Given the description of an element on the screen output the (x, y) to click on. 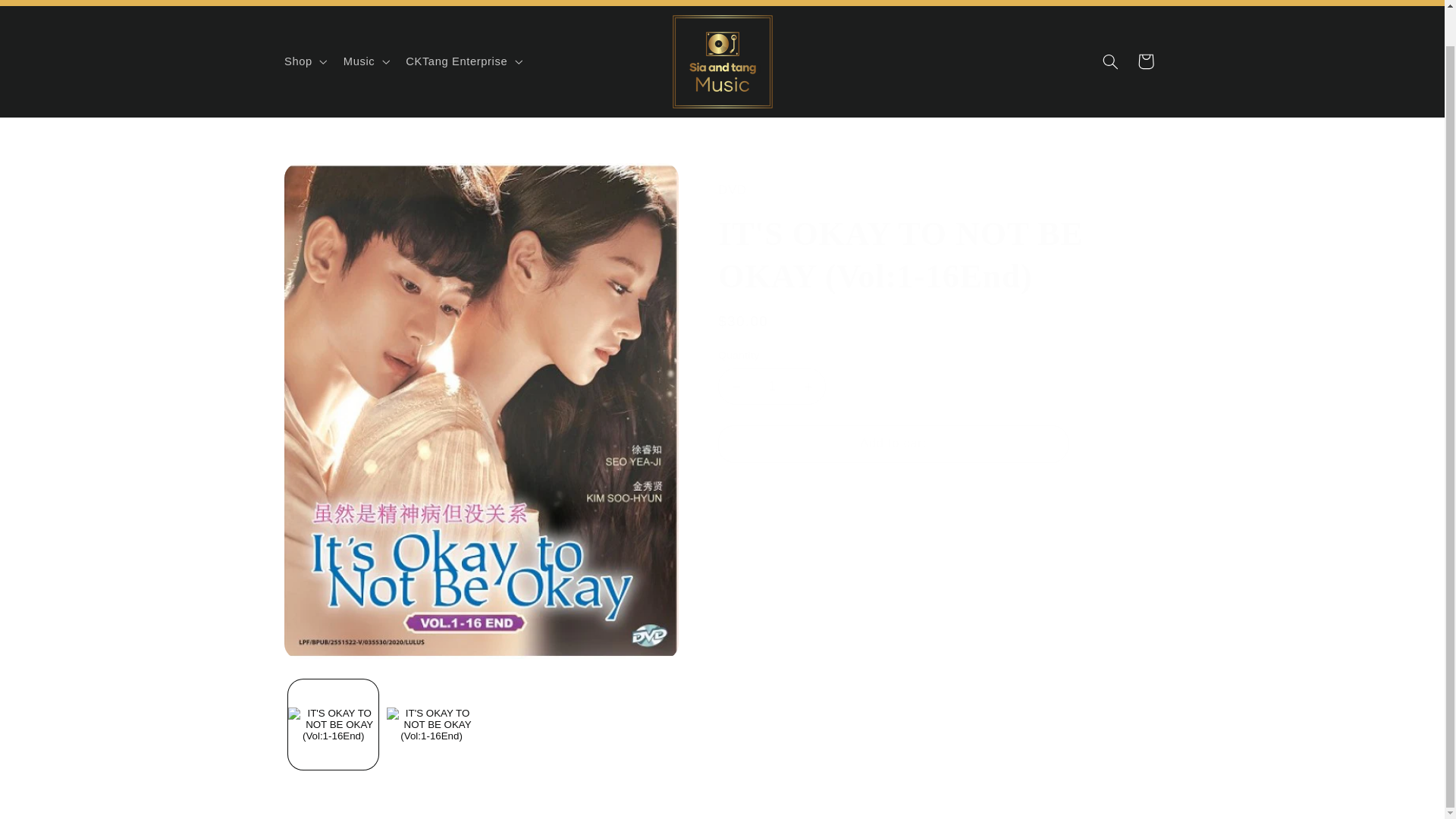
1 (771, 385)
